Given the description of an element on the screen output the (x, y) to click on. 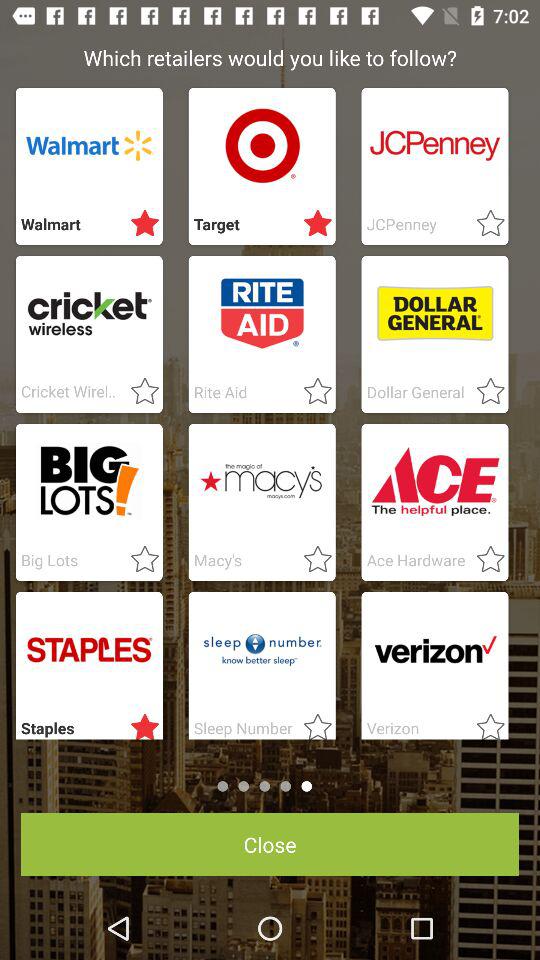
favorite (139, 560)
